Given the description of an element on the screen output the (x, y) to click on. 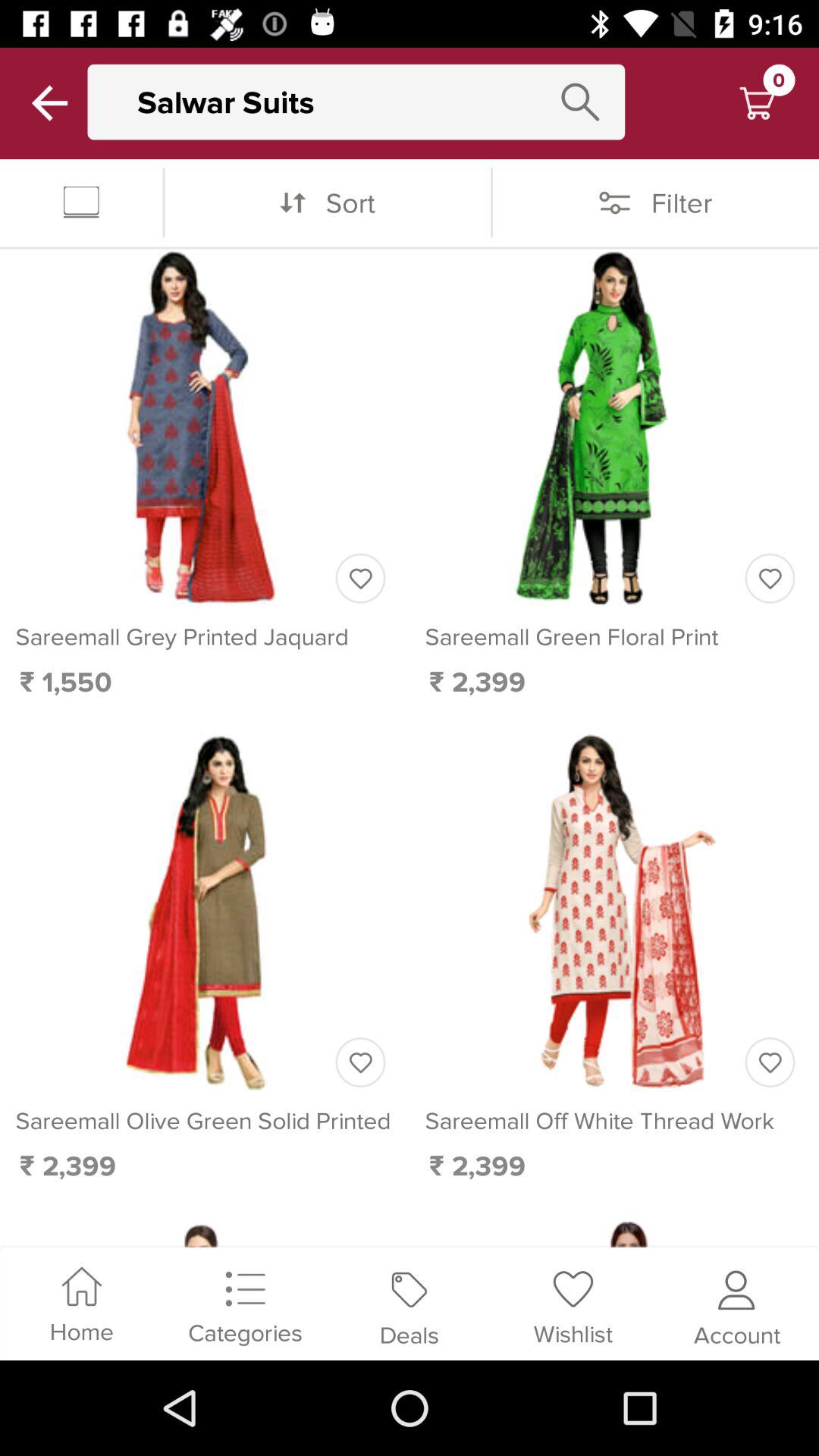
jump until salwar suits (371, 101)
